Given the description of an element on the screen output the (x, y) to click on. 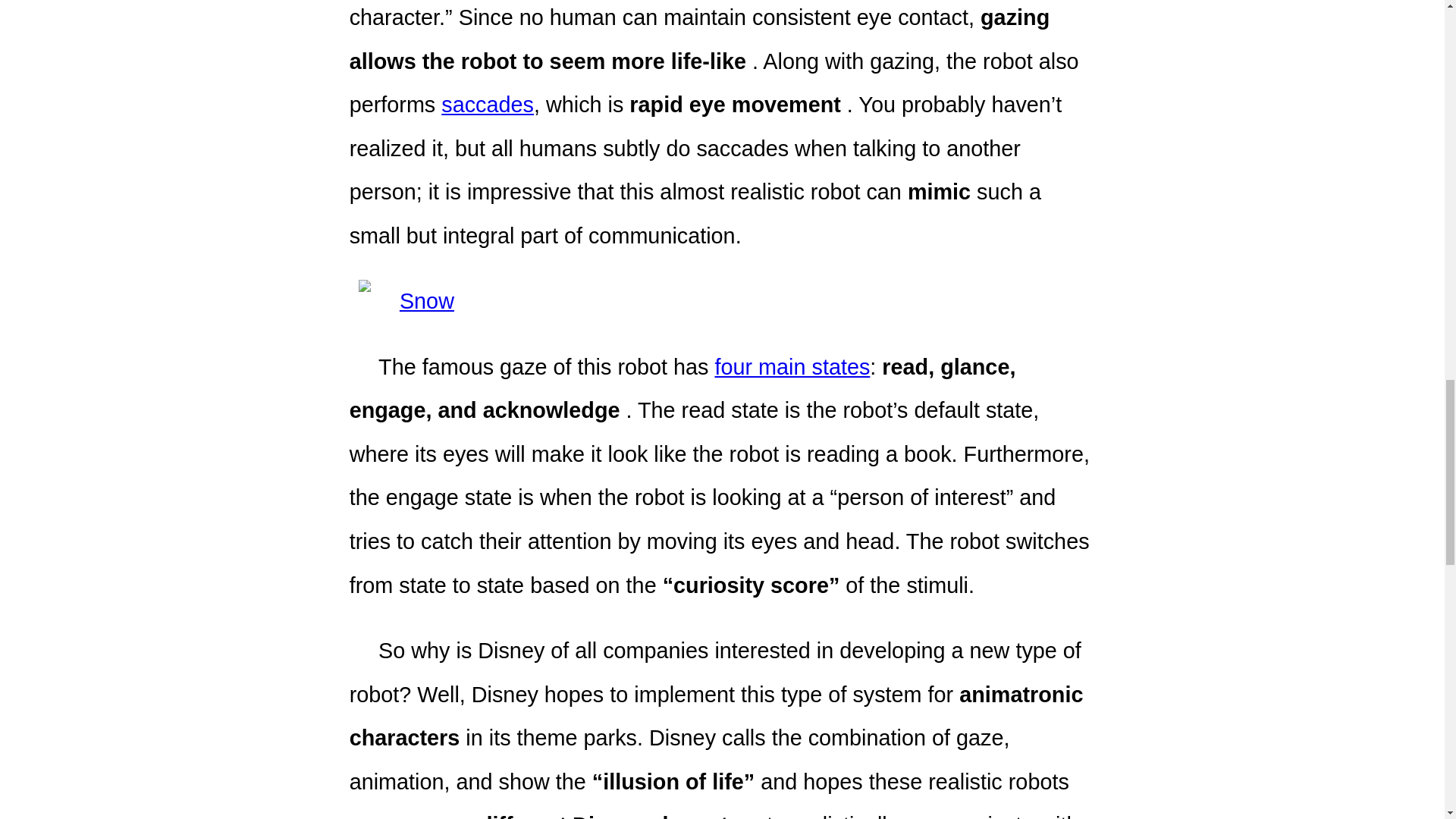
saccades (487, 104)
four main states (791, 366)
